Given the description of an element on the screen output the (x, y) to click on. 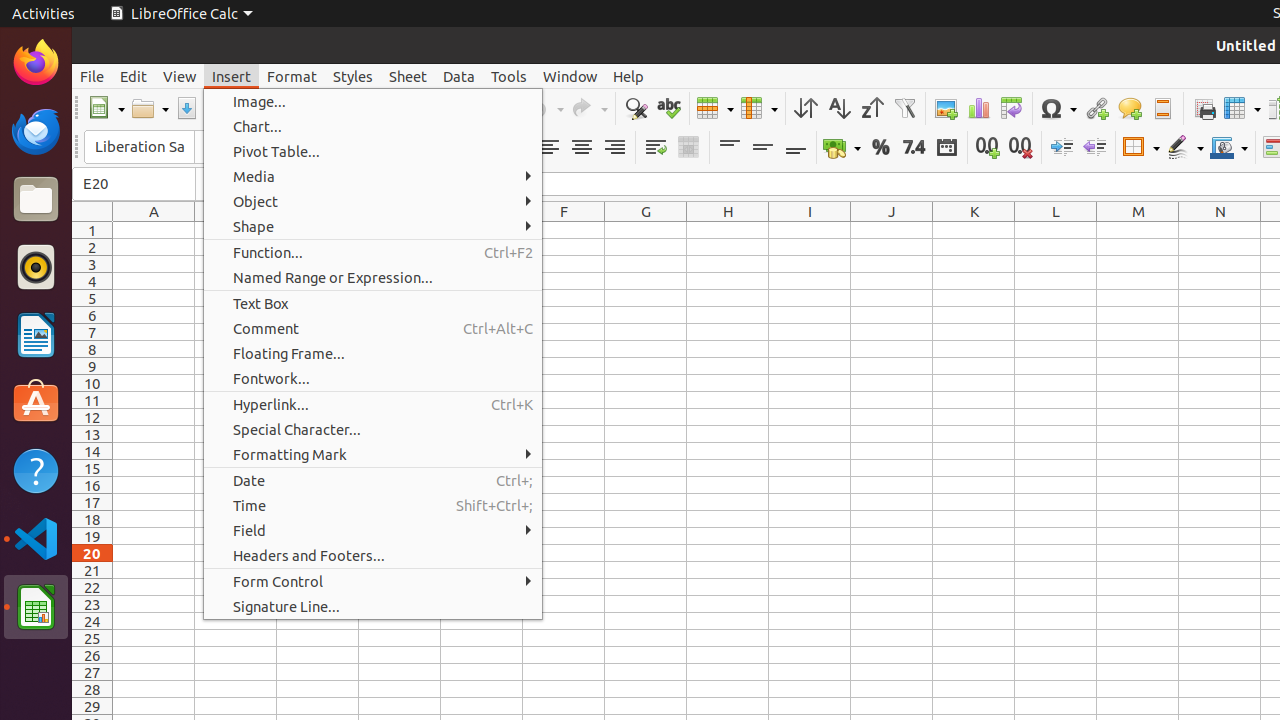
LibreOffice Calc Element type: menu (181, 13)
New Element type: push-button (106, 108)
Date Element type: menu-item (373, 480)
Symbol Element type: push-button (1058, 108)
Sort Descending Element type: push-button (871, 108)
